Given the description of an element on the screen output the (x, y) to click on. 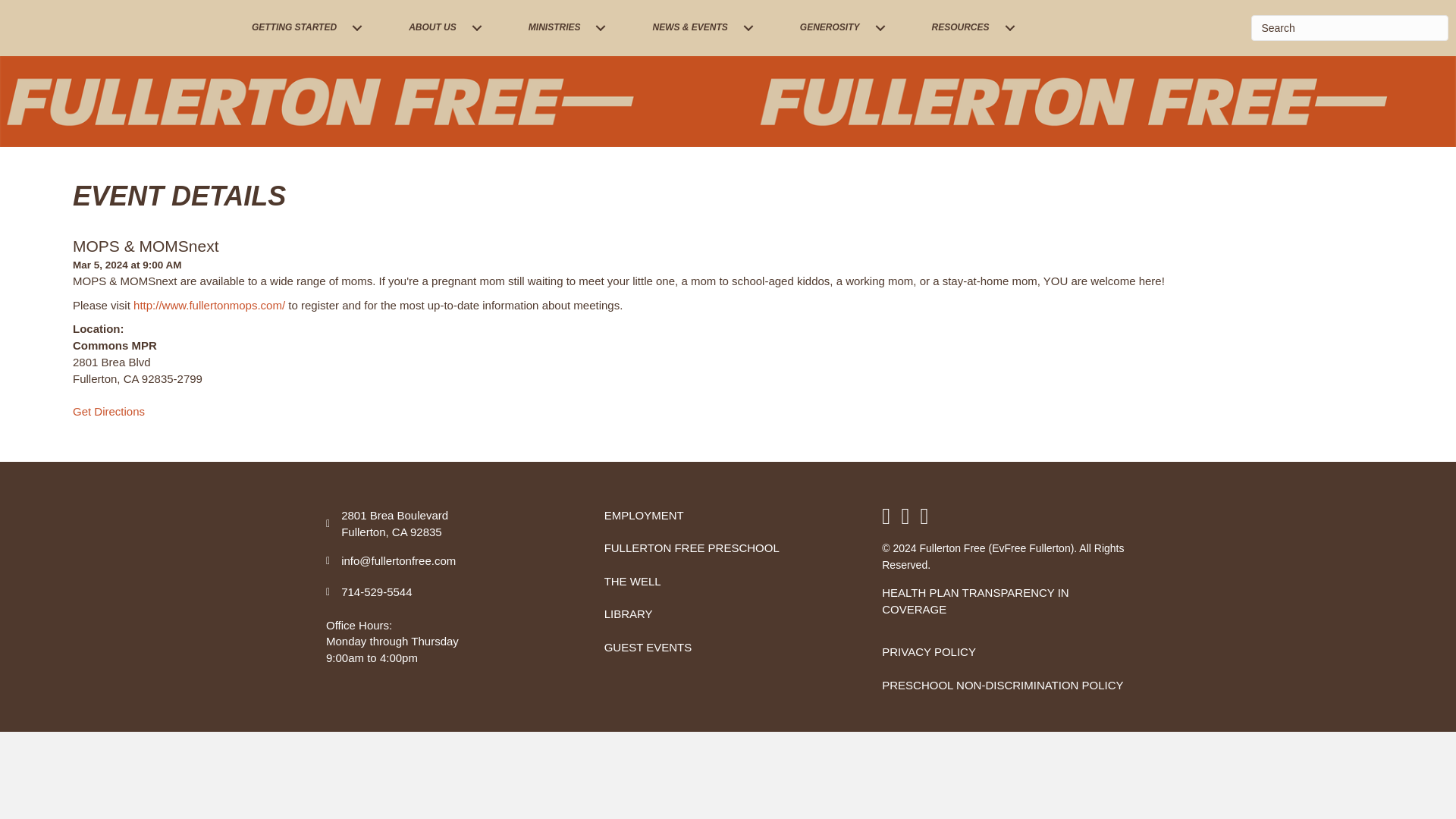
MINISTRIES (559, 27)
Search (1349, 27)
ABOUT US (437, 27)
Type and press Enter to search. (1349, 27)
GETTING STARTED (299, 27)
Search (1349, 27)
GENEROSITY (835, 27)
